Given the description of an element on the screen output the (x, y) to click on. 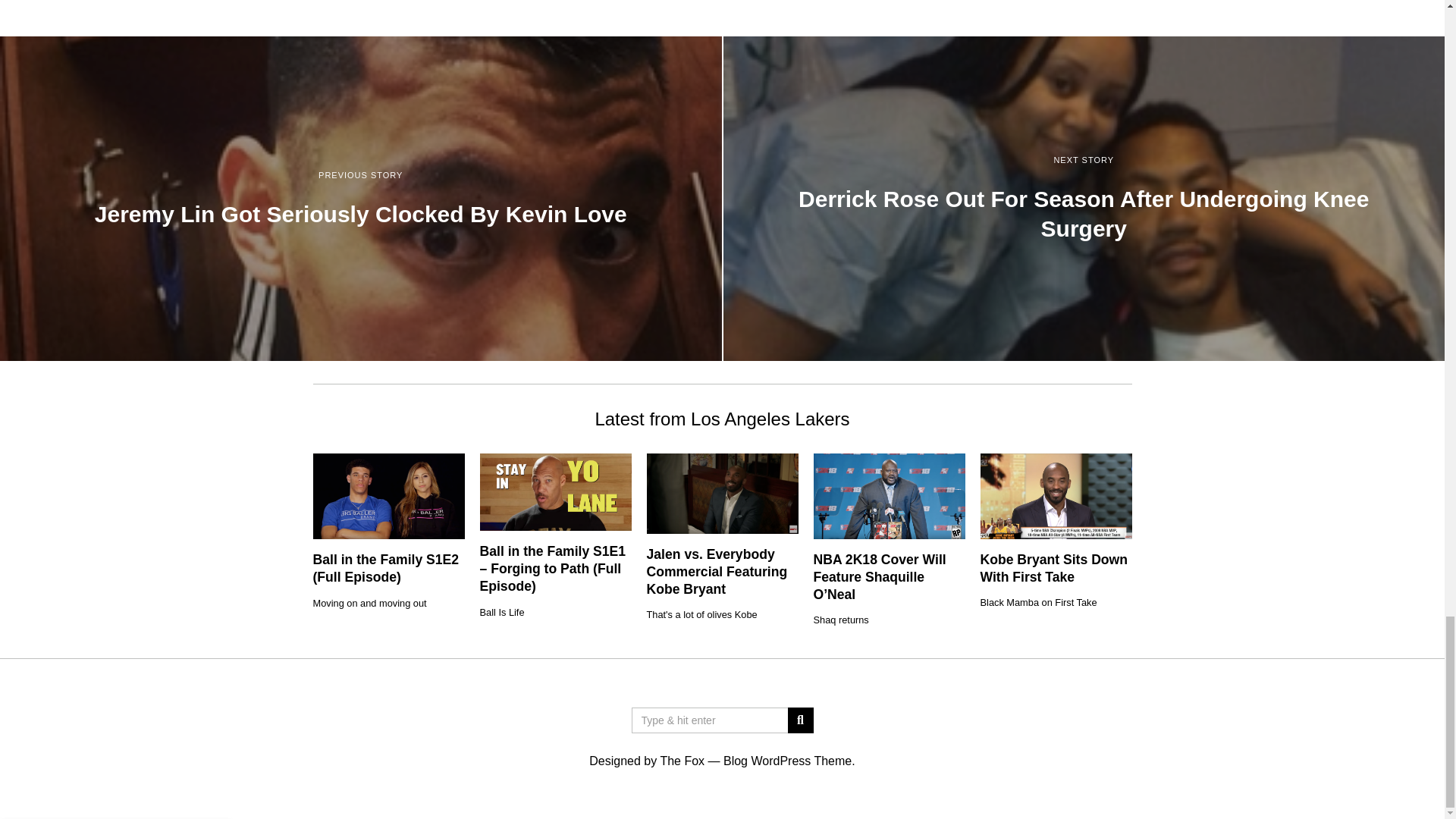
Go (799, 720)
